Given the description of an element on the screen output the (x, y) to click on. 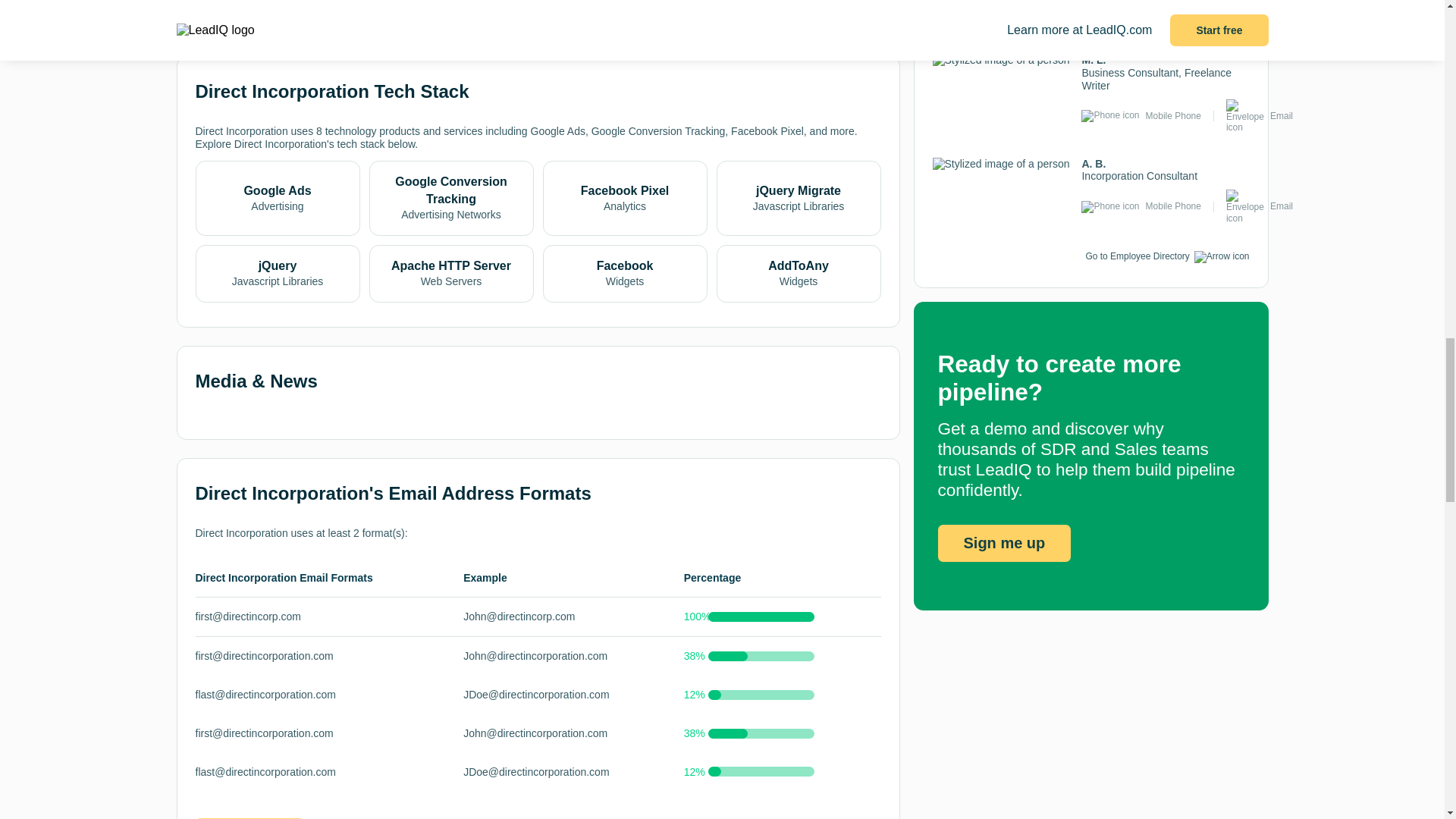
Explore similar companies (272, 1)
Explore similar companies (272, 6)
